Given the description of an element on the screen output the (x, y) to click on. 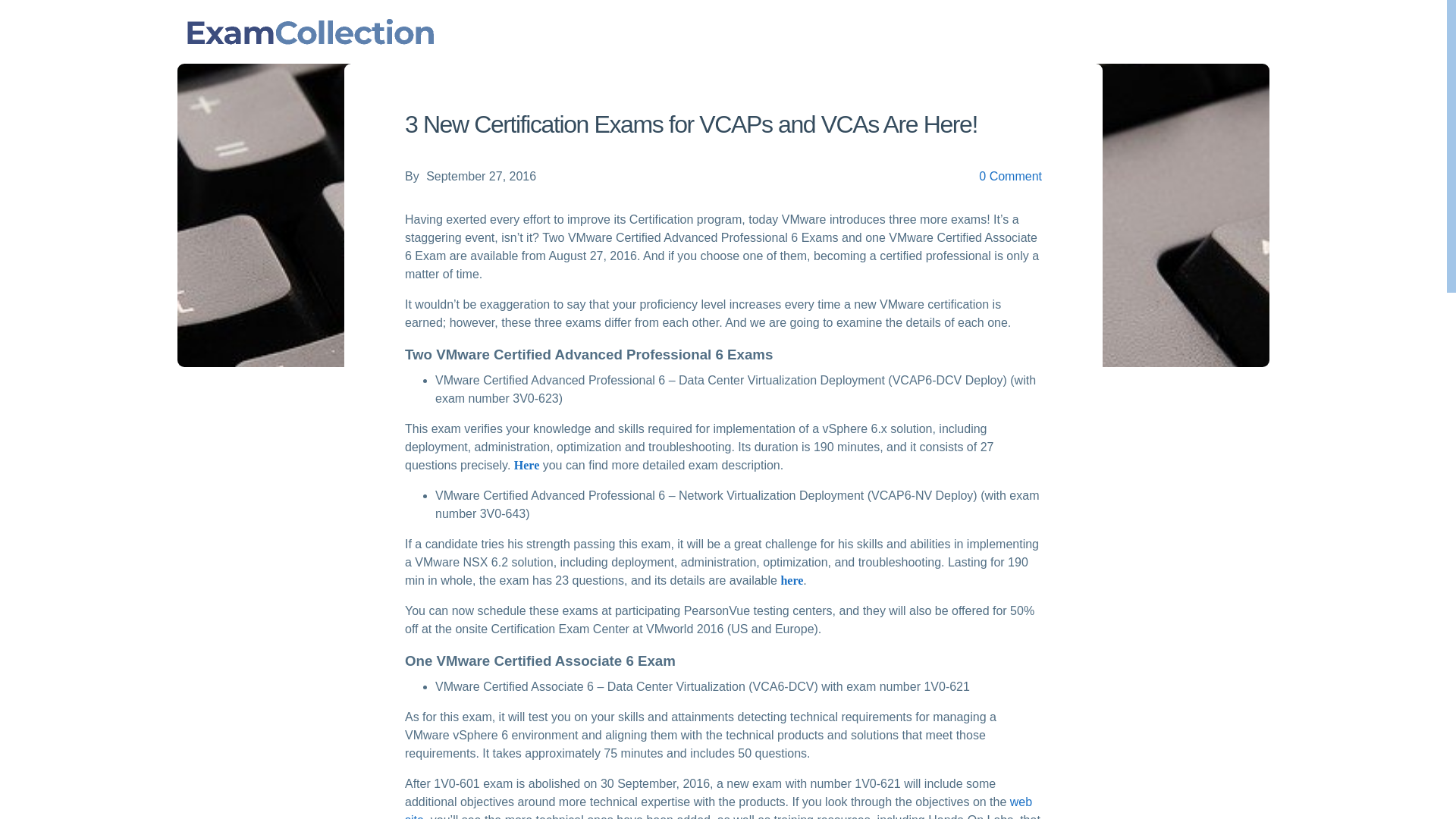
web site (718, 807)
Here (525, 466)
0 Comment (1010, 177)
here (791, 581)
